Given the description of an element on the screen output the (x, y) to click on. 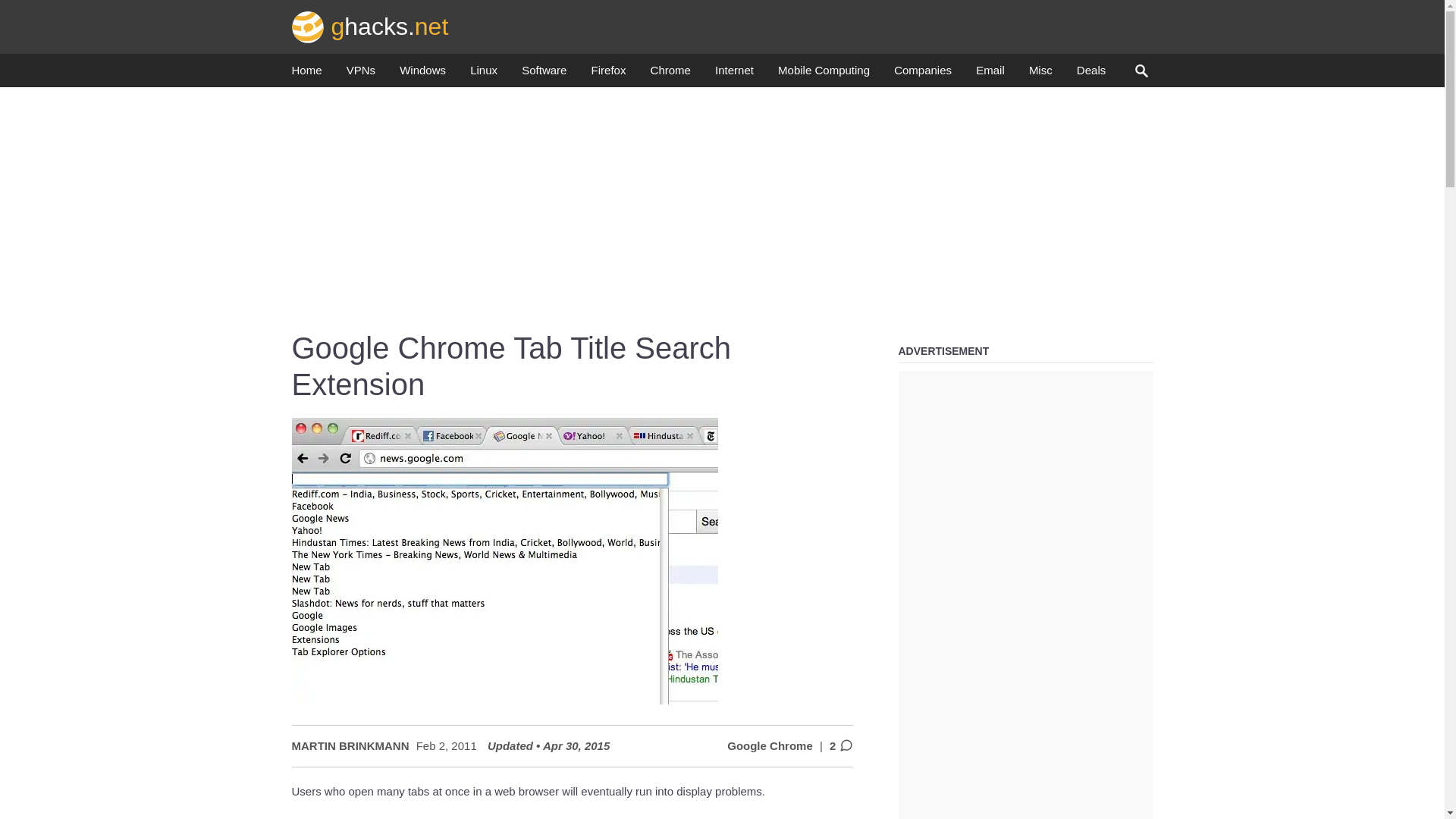
VPNs (360, 73)
Misc (1040, 73)
Mobile Computing (823, 73)
Home (306, 73)
Software (543, 73)
Deals (1091, 73)
Firefox (608, 73)
Chrome (670, 73)
ghacks.net (369, 26)
Email (989, 73)
Companies (922, 73)
Internet (734, 73)
Linux (483, 73)
Windows (421, 73)
